Given the description of an element on the screen output the (x, y) to click on. 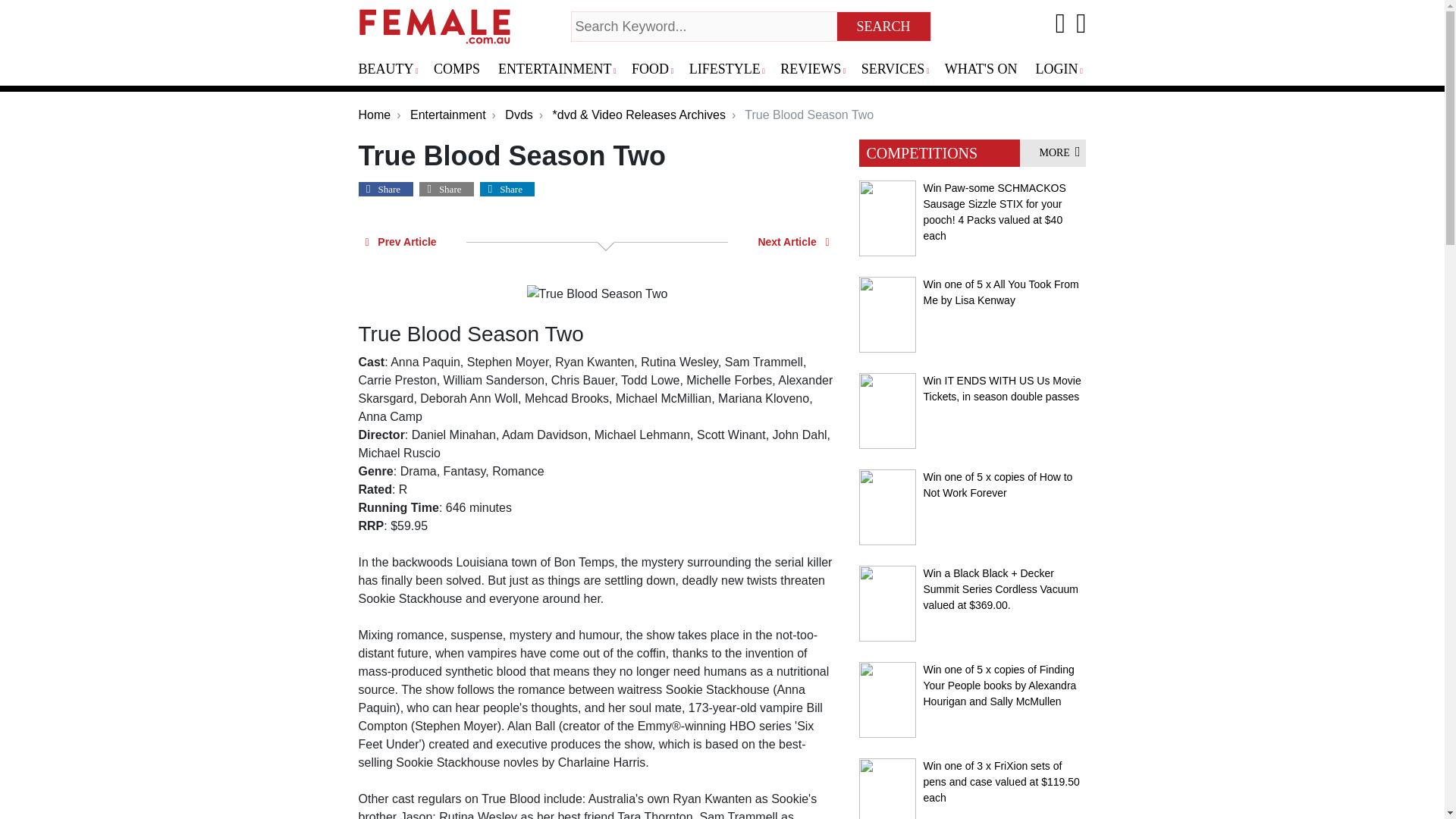
COMPS (462, 69)
BEAUTY (393, 69)
SEARCH (884, 26)
SEARCH (884, 26)
Next Article (793, 241)
LIFESTYLE (731, 69)
Previous Article (400, 241)
FOOD (656, 69)
SEARCH (884, 26)
ENTERTAINMENT (561, 69)
